Given the description of an element on the screen output the (x, y) to click on. 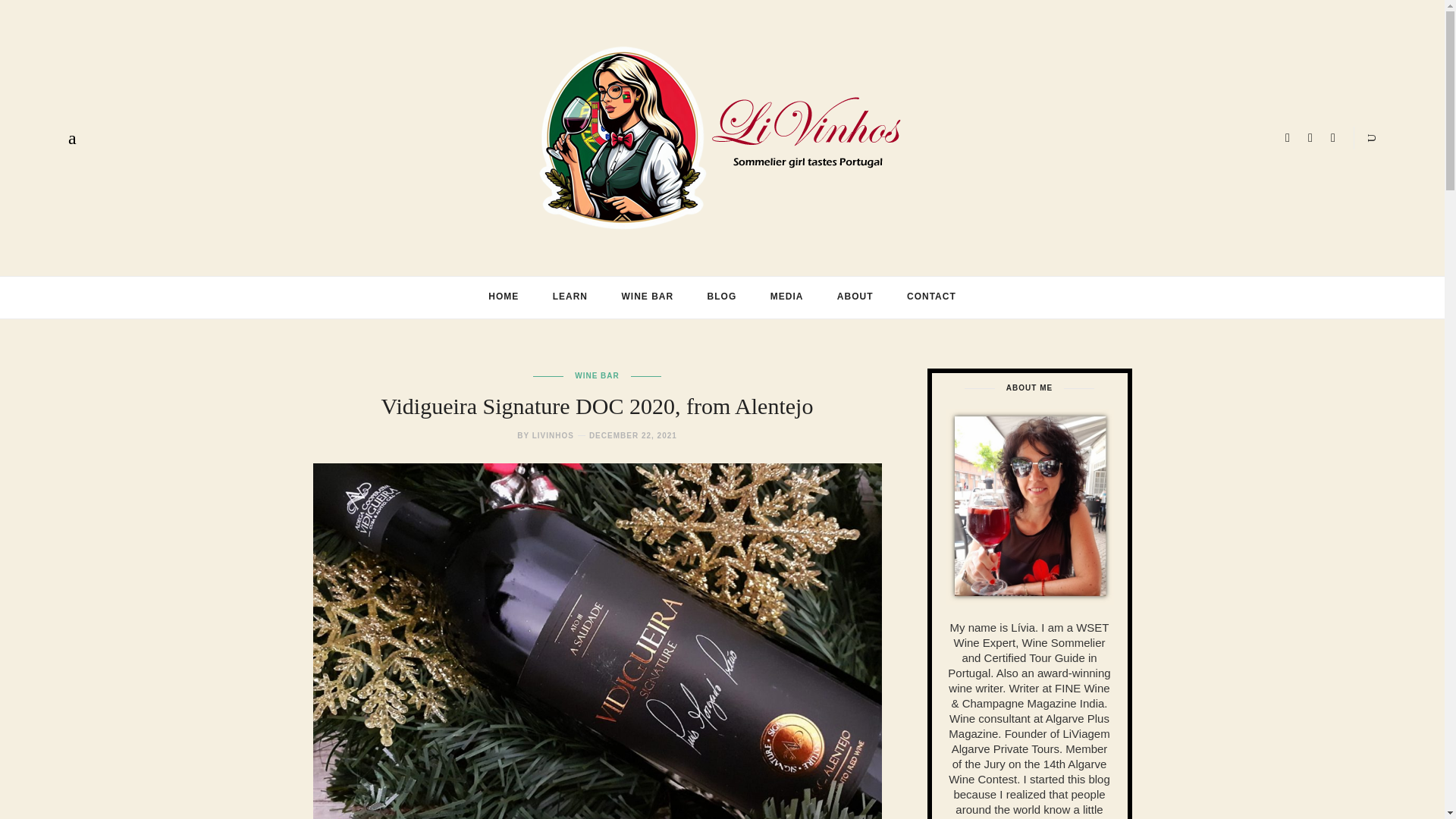
BLOG (722, 296)
WINE BAR (646, 296)
CONTACT (931, 296)
LEARN (569, 296)
HOME (503, 296)
MEDIA (786, 296)
Livinhos (721, 136)
ABOUT (855, 296)
